Given the description of an element on the screen output the (x, y) to click on. 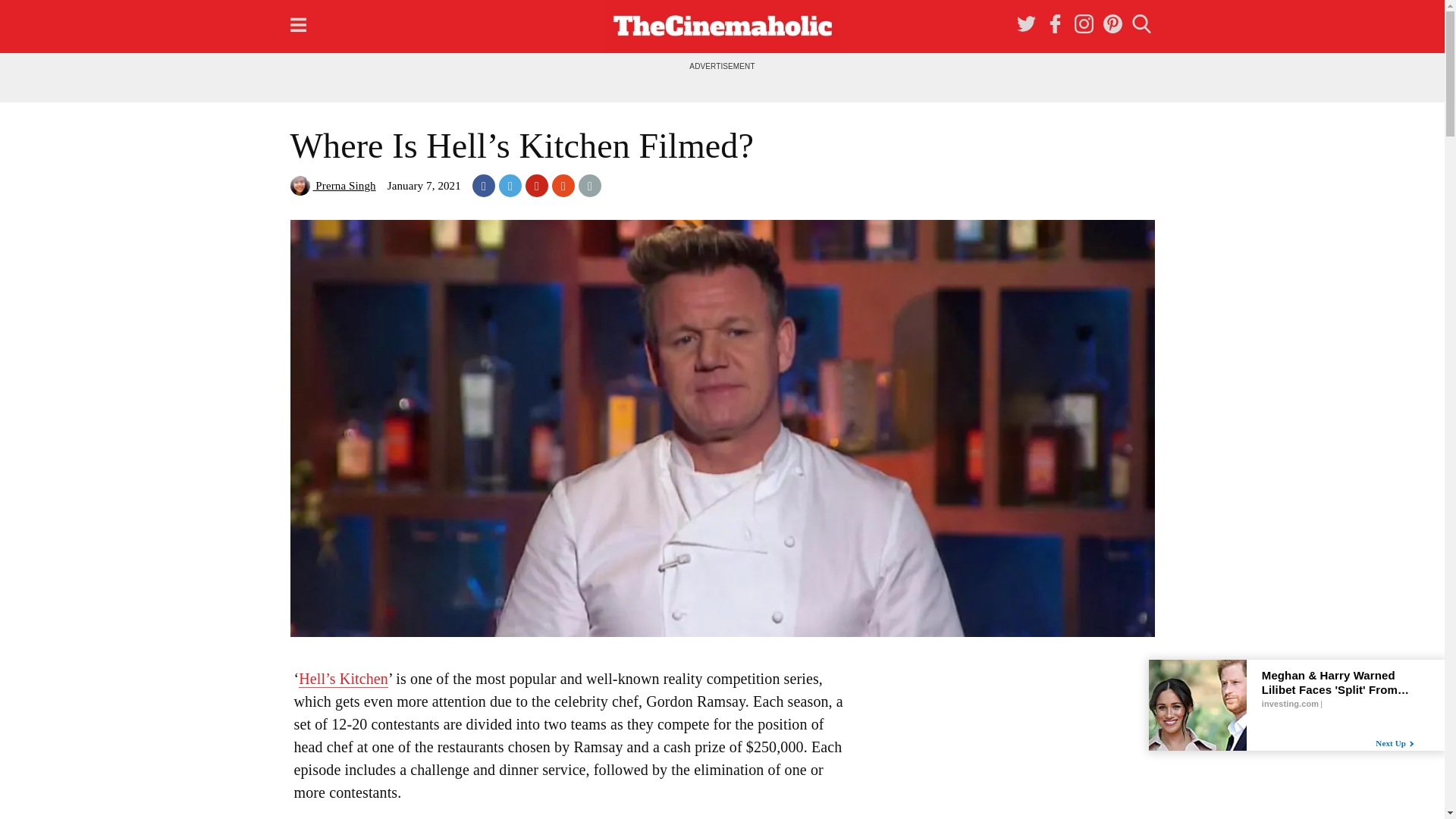
Prerna Singh (332, 185)
